Given the description of an element on the screen output the (x, y) to click on. 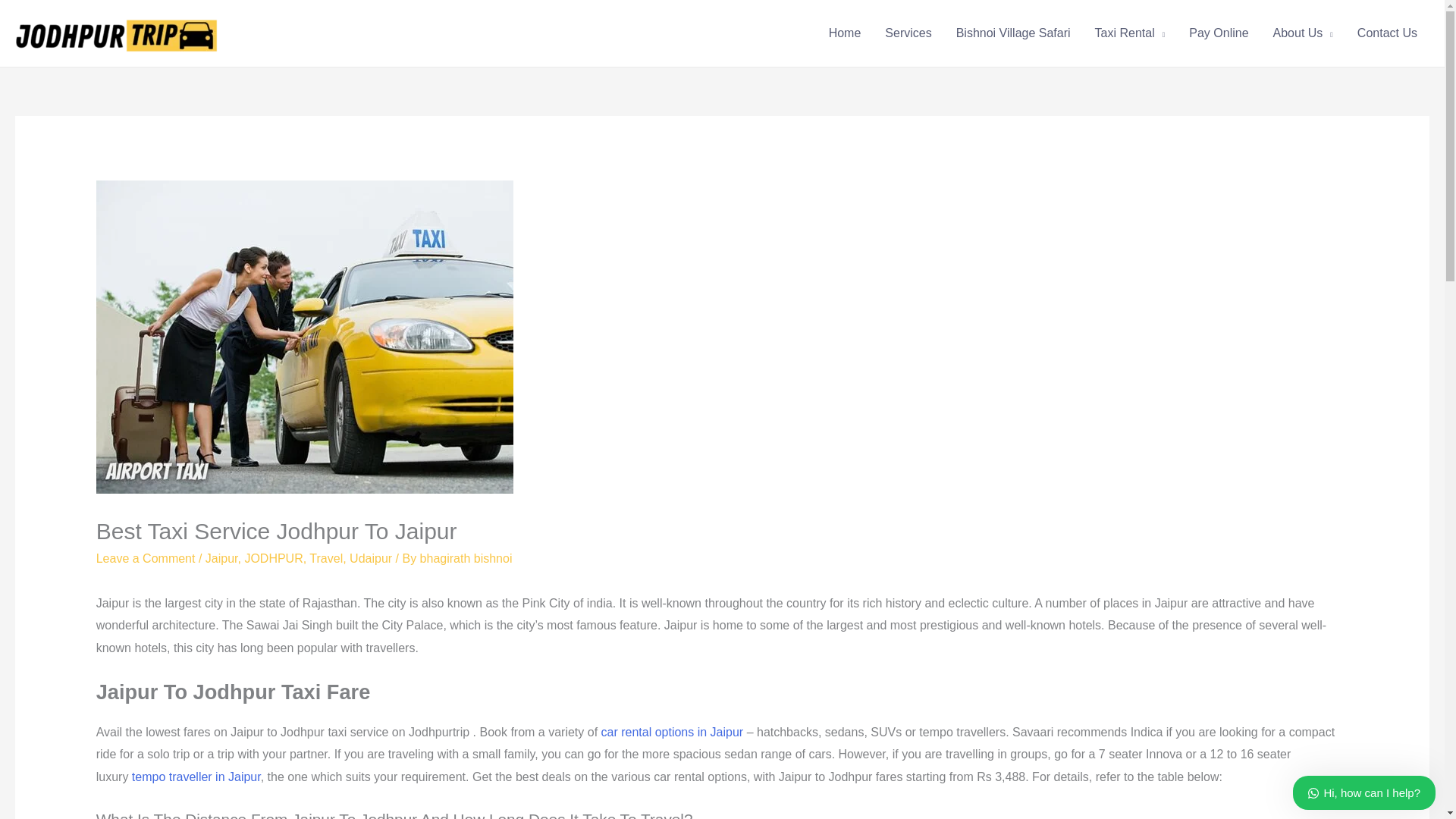
Taxi Rental (1130, 33)
Services (907, 33)
View all posts by bhagirath bishnoi (466, 558)
Travel (325, 558)
car rental options in Jaipur (672, 731)
Contact Us (1387, 33)
Pay Online (1218, 33)
Udaipur (370, 558)
Home (844, 33)
tempo traveller in Jaipur (196, 776)
Leave a Comment (145, 558)
Bishnoi Village Safari (1013, 33)
Jaipur (221, 558)
bhagirath bishnoi (466, 558)
JODHPUR (273, 558)
